Given the description of an element on the screen output the (x, y) to click on. 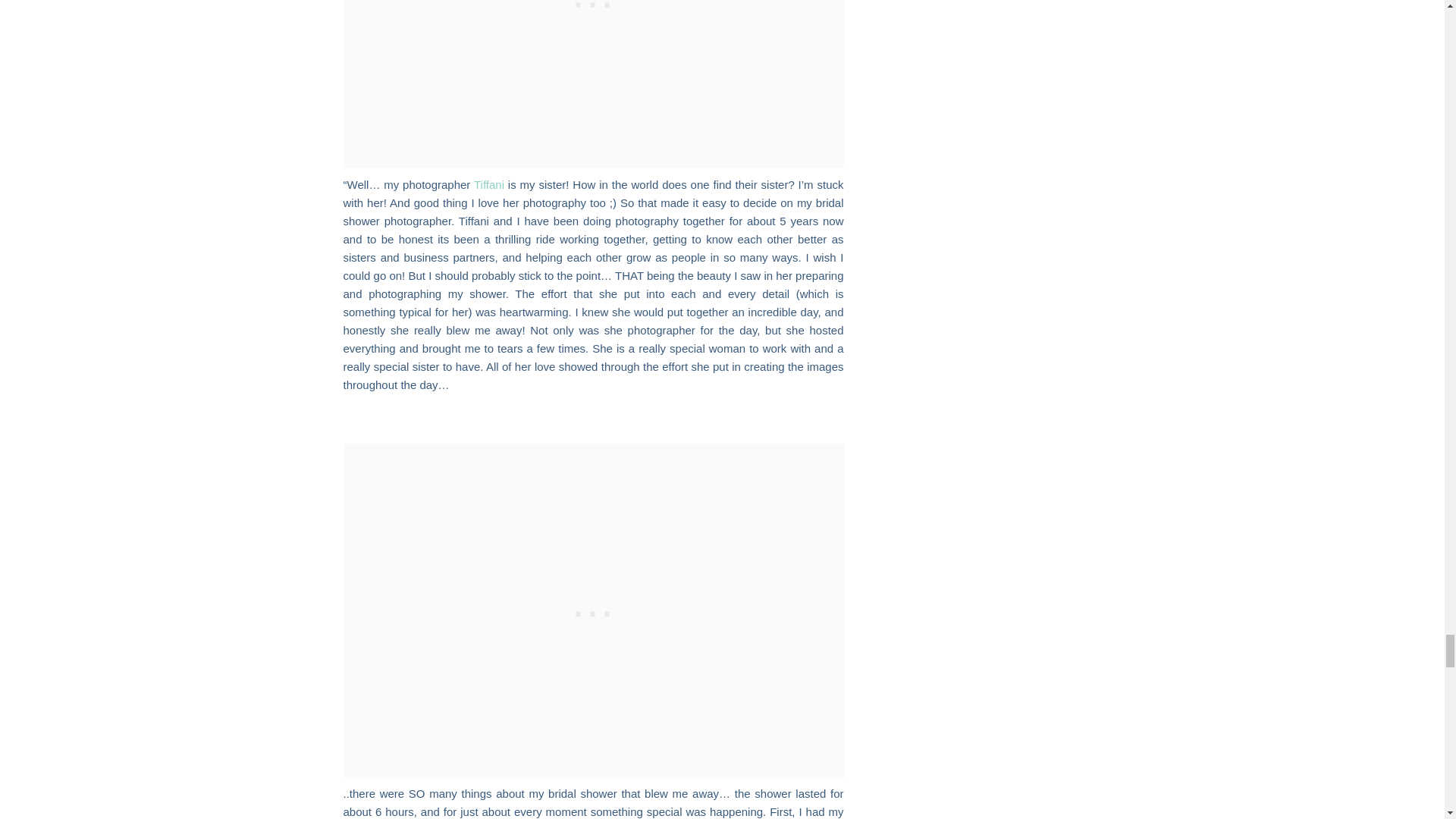
Tiffani (488, 184)
